Given the description of an element on the screen output the (x, y) to click on. 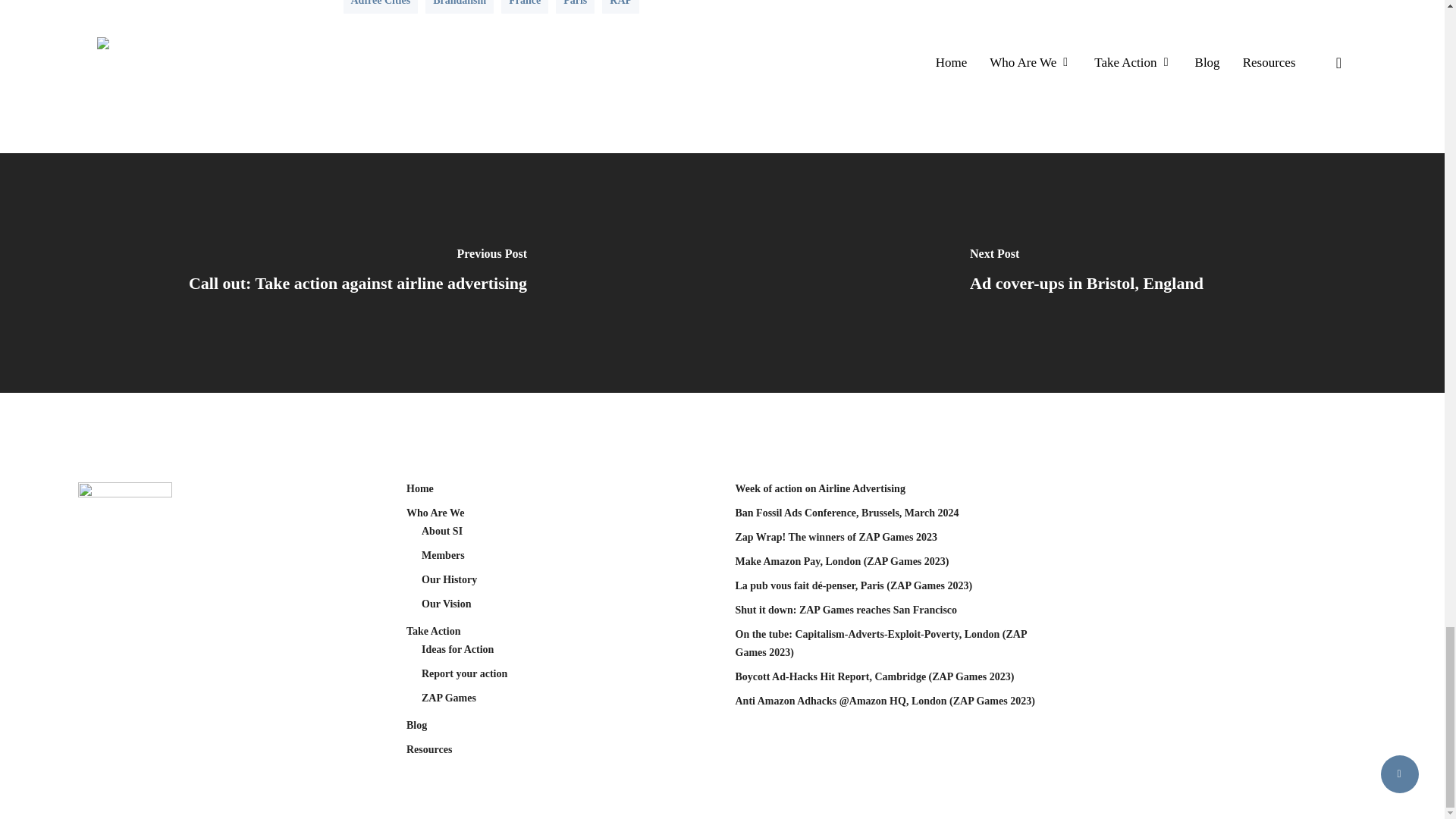
Paris (575, 6)
RAP (620, 6)
France (524, 6)
Home (558, 488)
Adfree Cities (379, 6)
Brandalism (459, 6)
Who Are We (558, 513)
